Given the description of an element on the screen output the (x, y) to click on. 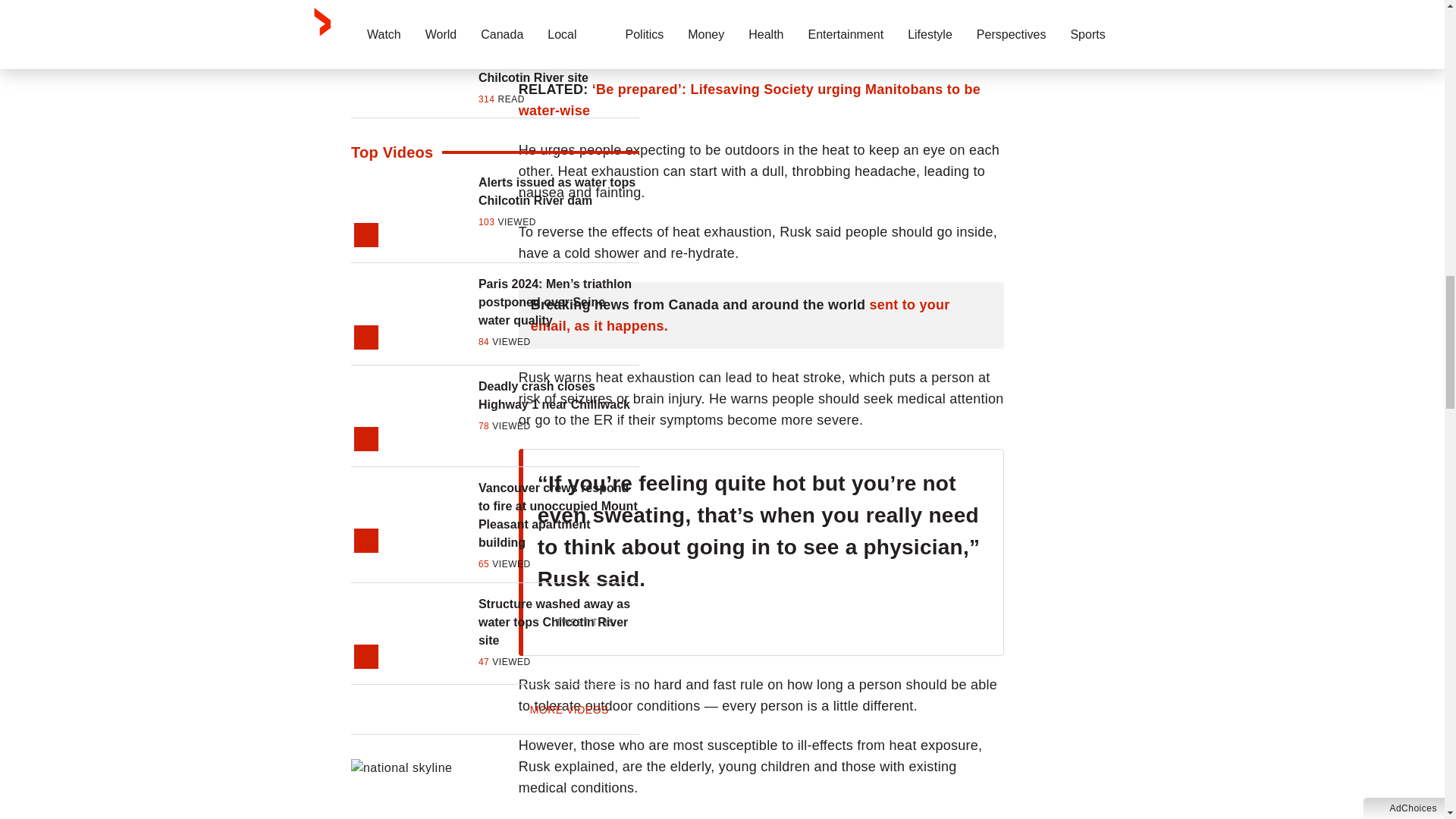
Deadly crash closes Highway 1 near Chilliwack (559, 395)
Alerts issued as water tops Chilcotin River dam (559, 191)
Structure washed away as water tops Chilcotin River site (559, 622)
